Given the description of an element on the screen output the (x, y) to click on. 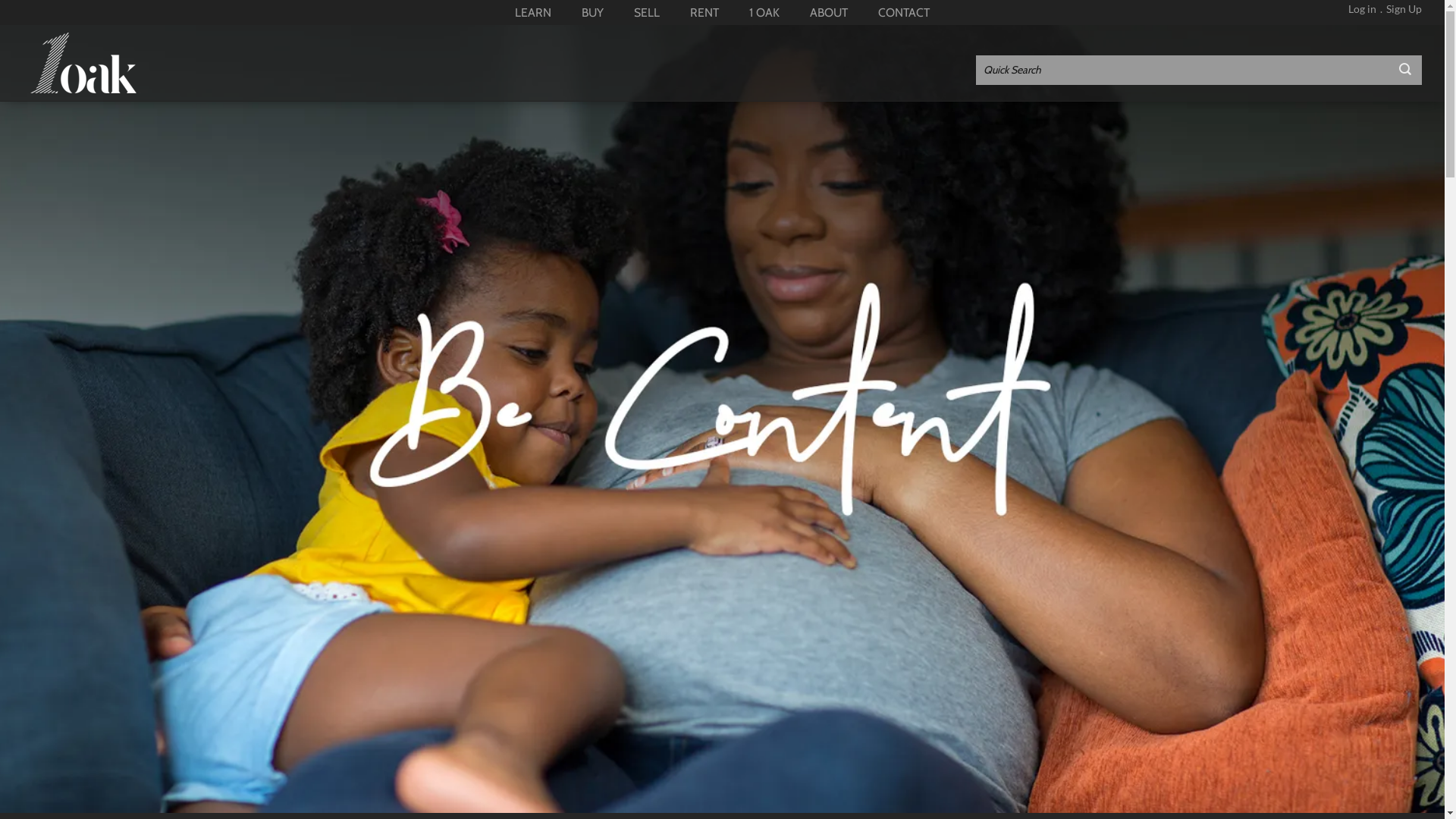
ABOUT Element type: text (828, 12)
BUY Element type: text (592, 12)
1 Oak Bahamas Element type: hover (85, 62)
LEARN Element type: text (532, 12)
Sign Up Element type: text (1403, 8)
1 OAK Element type: text (764, 12)
Log in Element type: text (1362, 8)
SELL Element type: text (646, 12)
RENT Element type: text (704, 12)
CONTACT Element type: text (903, 12)
